Given the description of an element on the screen output the (x, y) to click on. 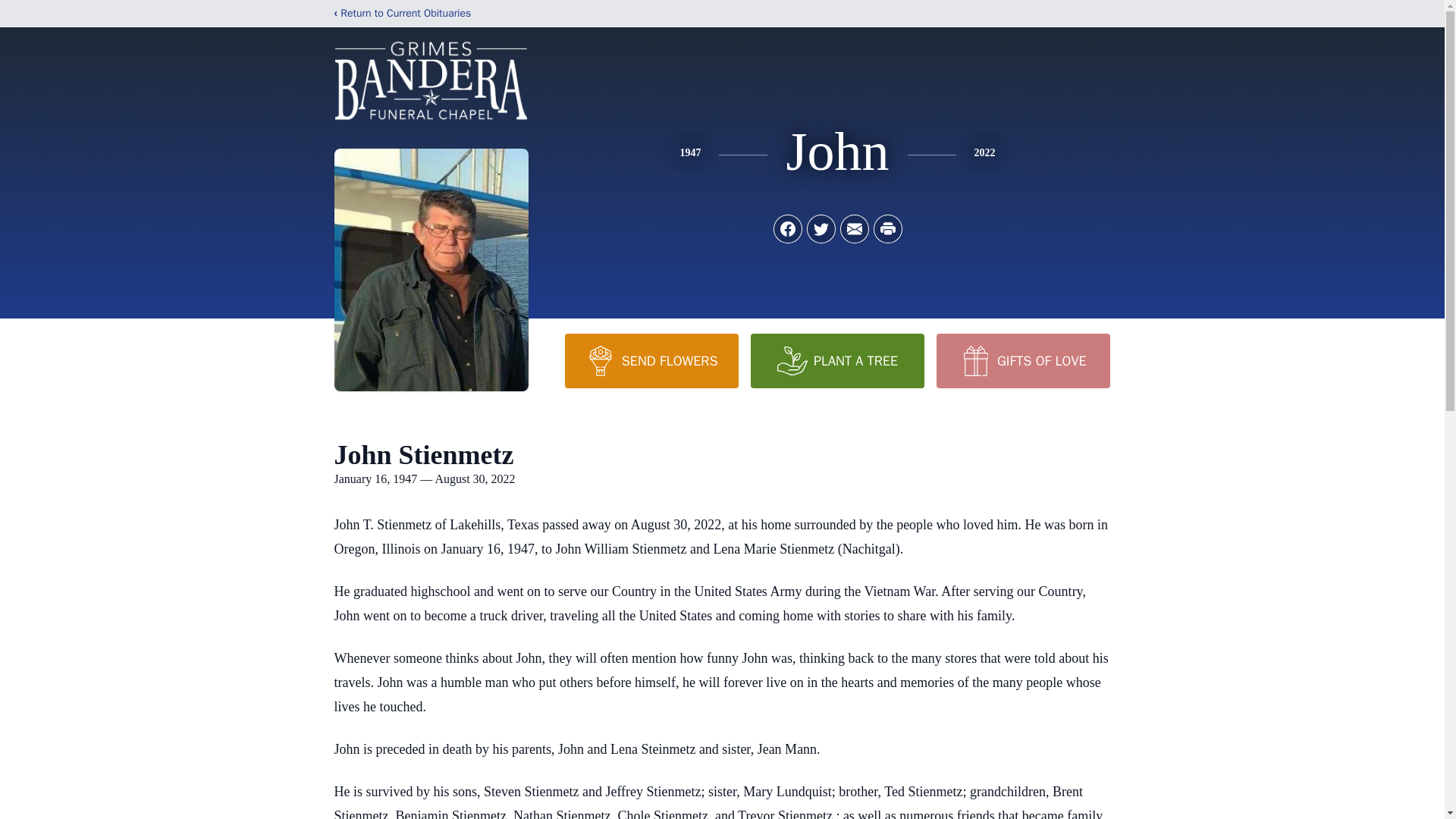
PLANT A TREE (837, 360)
SEND FLOWERS (651, 360)
GIFTS OF LOVE (1022, 360)
